Given the description of an element on the screen output the (x, y) to click on. 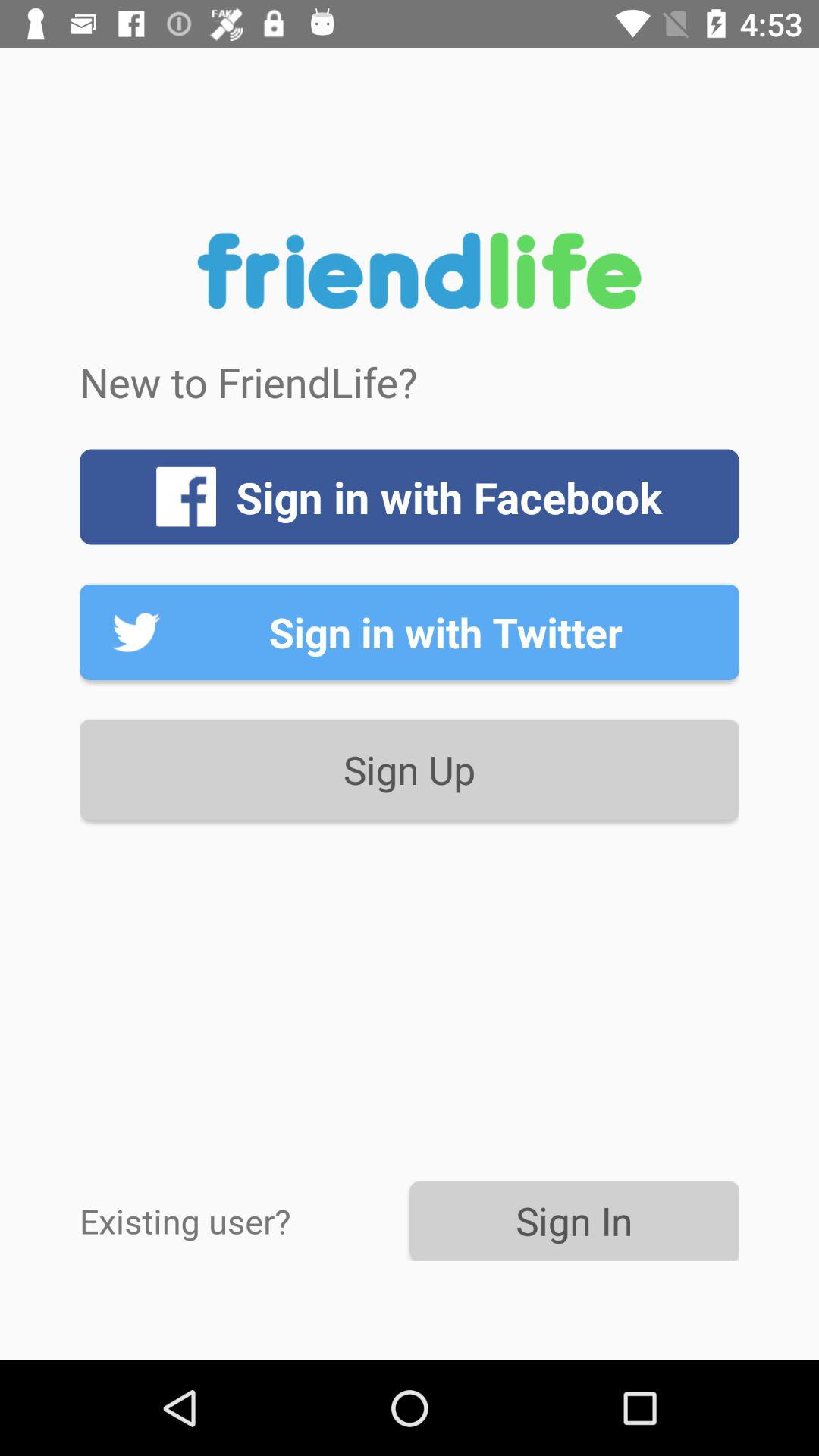
select the icon below the sign up icon (244, 1220)
